Given the description of an element on the screen output the (x, y) to click on. 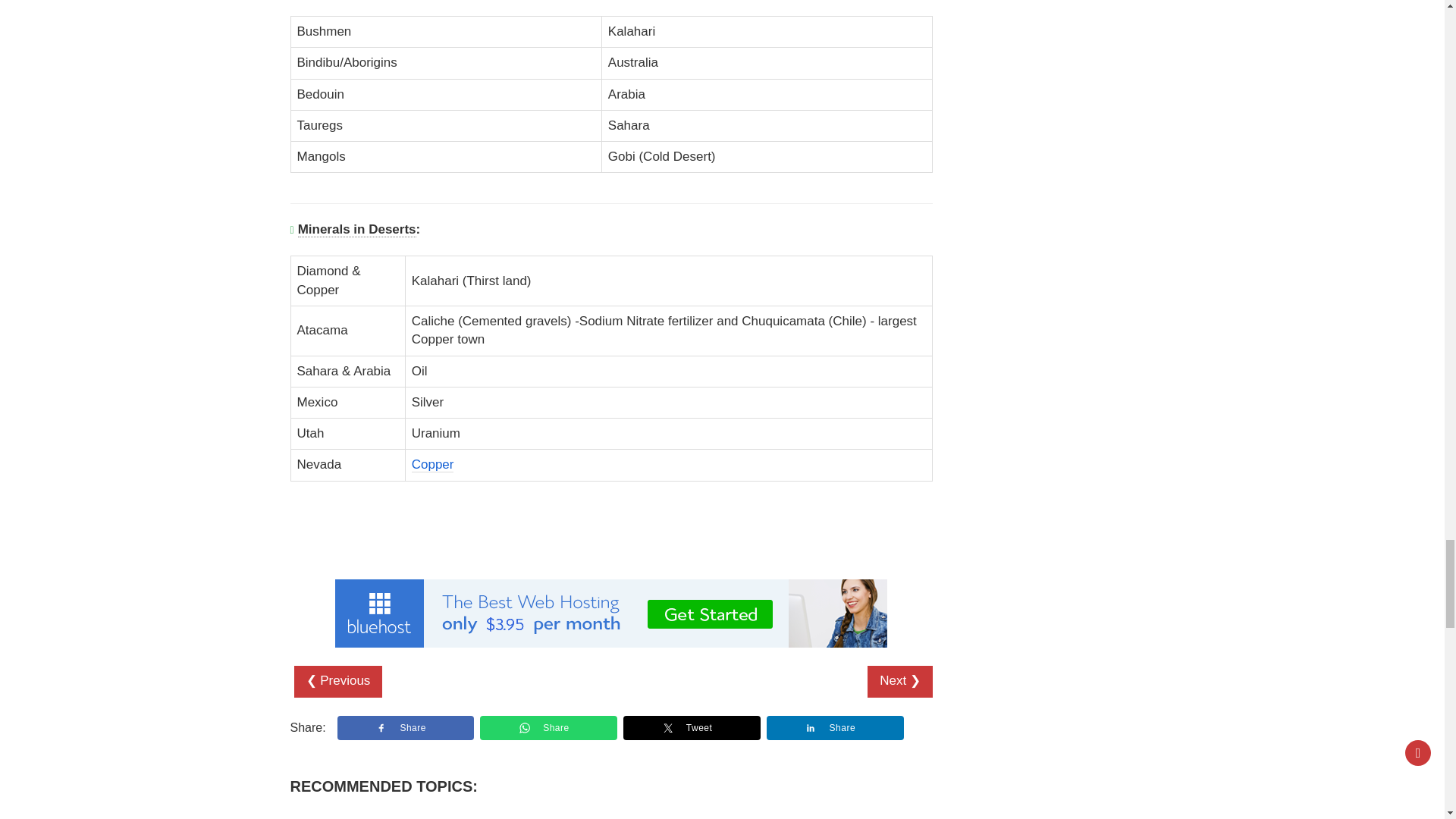
Best Web Hosting (610, 613)
